Given the description of an element on the screen output the (x, y) to click on. 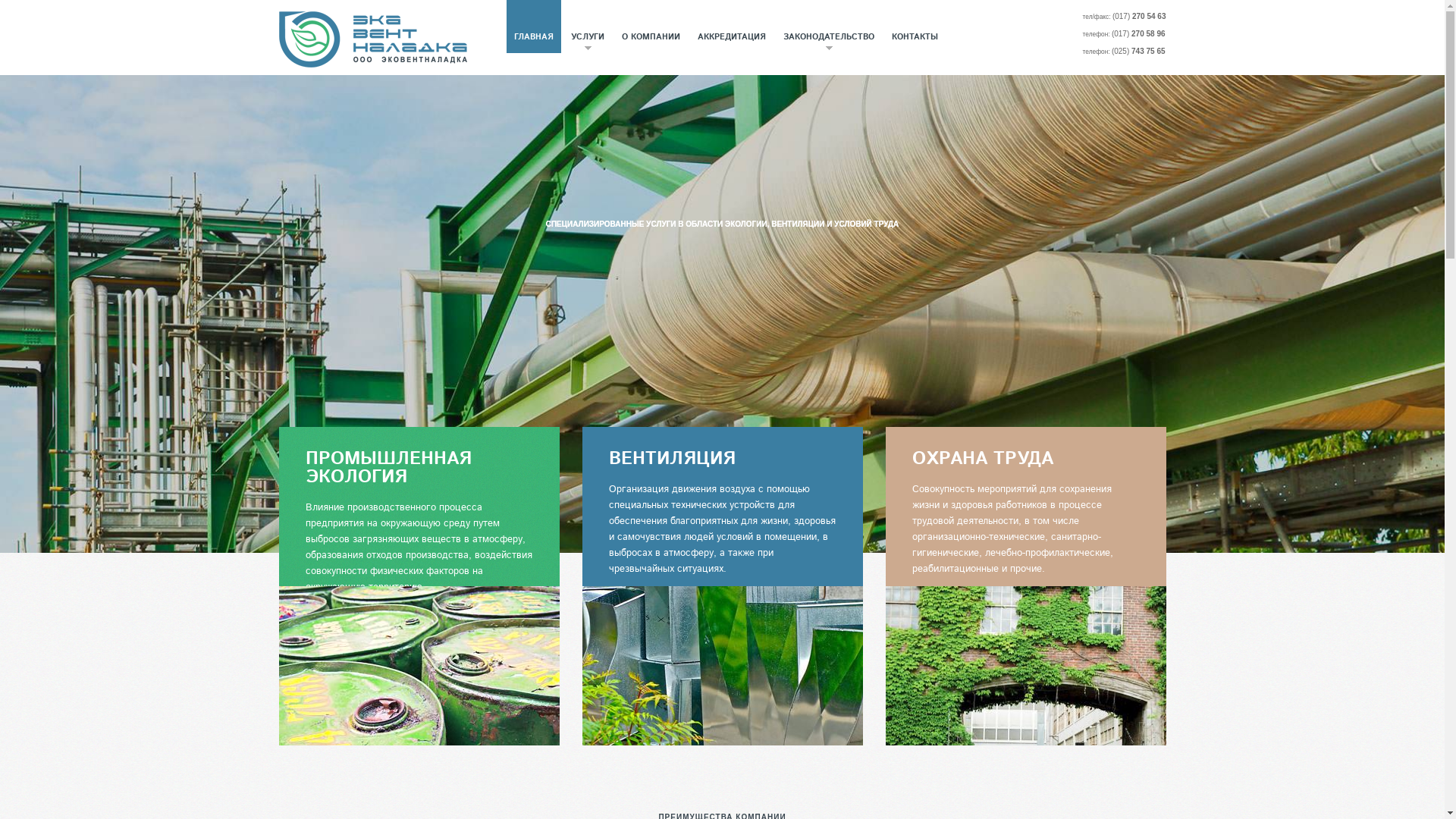
Evn Element type: hover (373, 39)
